Given the description of an element on the screen output the (x, y) to click on. 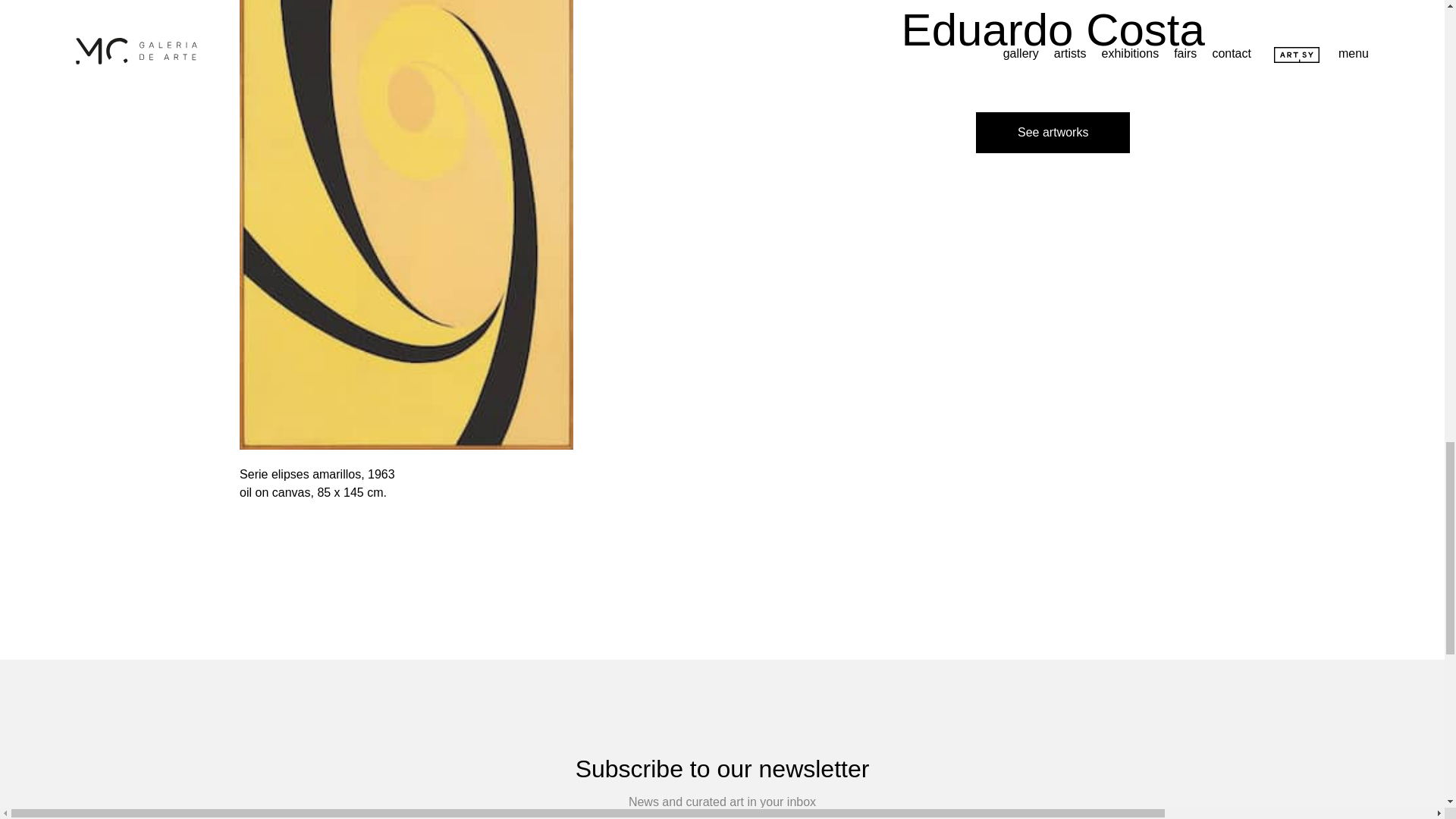
See artworks (1052, 132)
